Given the description of an element on the screen output the (x, y) to click on. 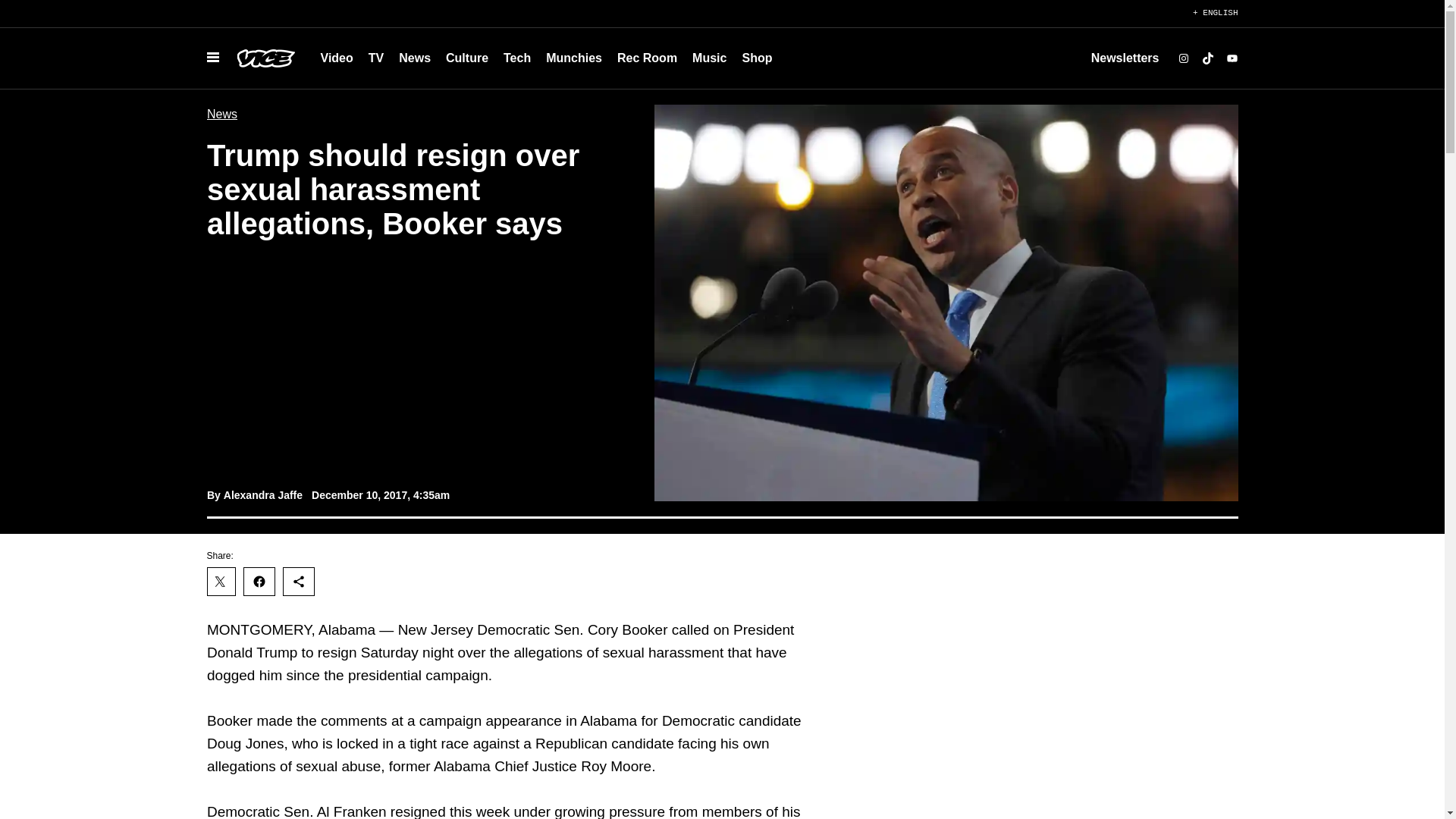
TV (376, 58)
Newsletters (1124, 57)
TikTok (1206, 58)
Tech (517, 58)
Shop (755, 58)
Culture (467, 58)
YouTube (1231, 58)
Open Menu (211, 58)
Posts by Alexandra Jaffe (261, 494)
Music (708, 58)
